Given the description of an element on the screen output the (x, y) to click on. 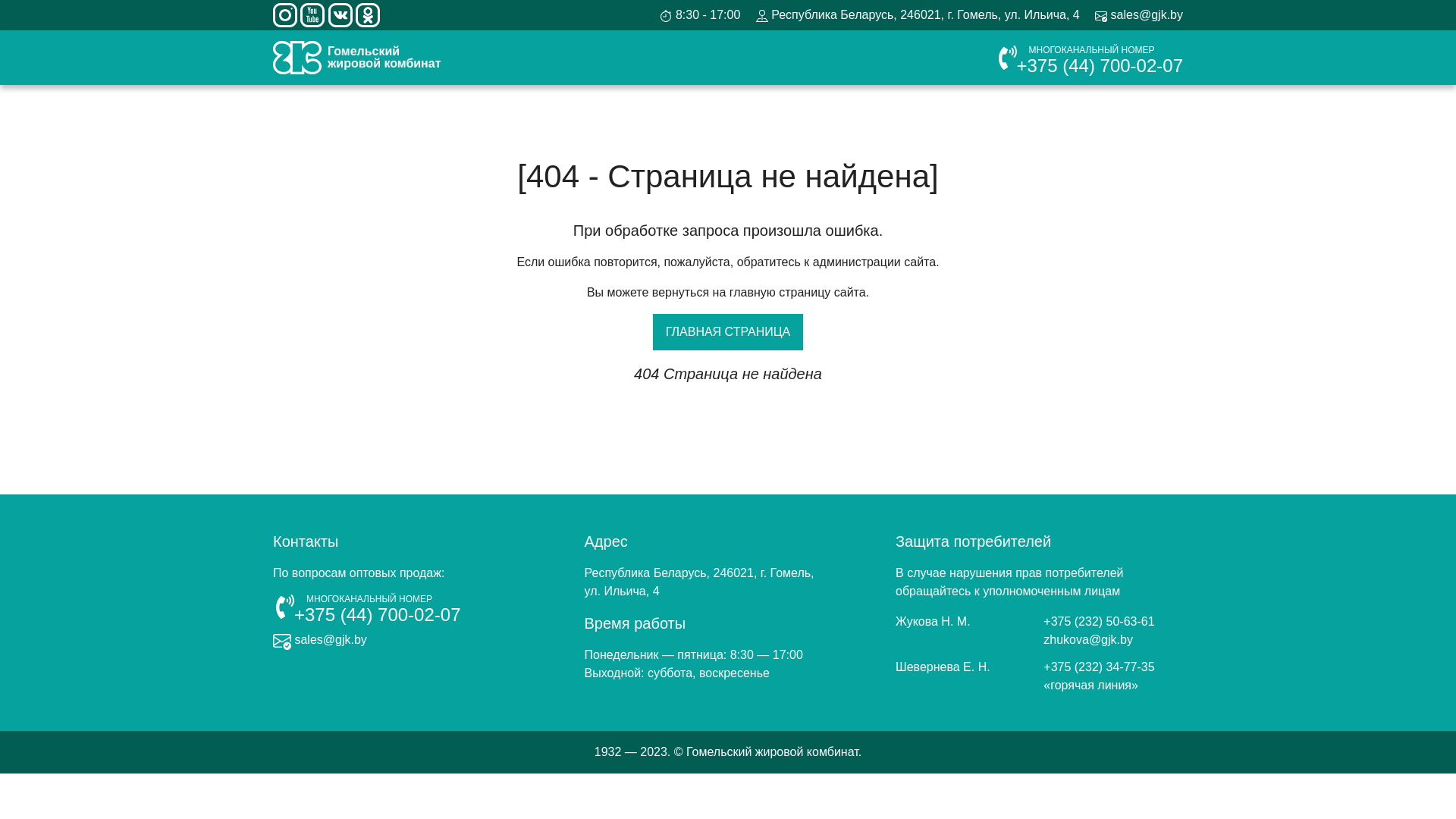
sales@gjk.by Element type: text (320, 639)
sales@gjk.by Element type: text (1139, 14)
